Given the description of an element on the screen output the (x, y) to click on. 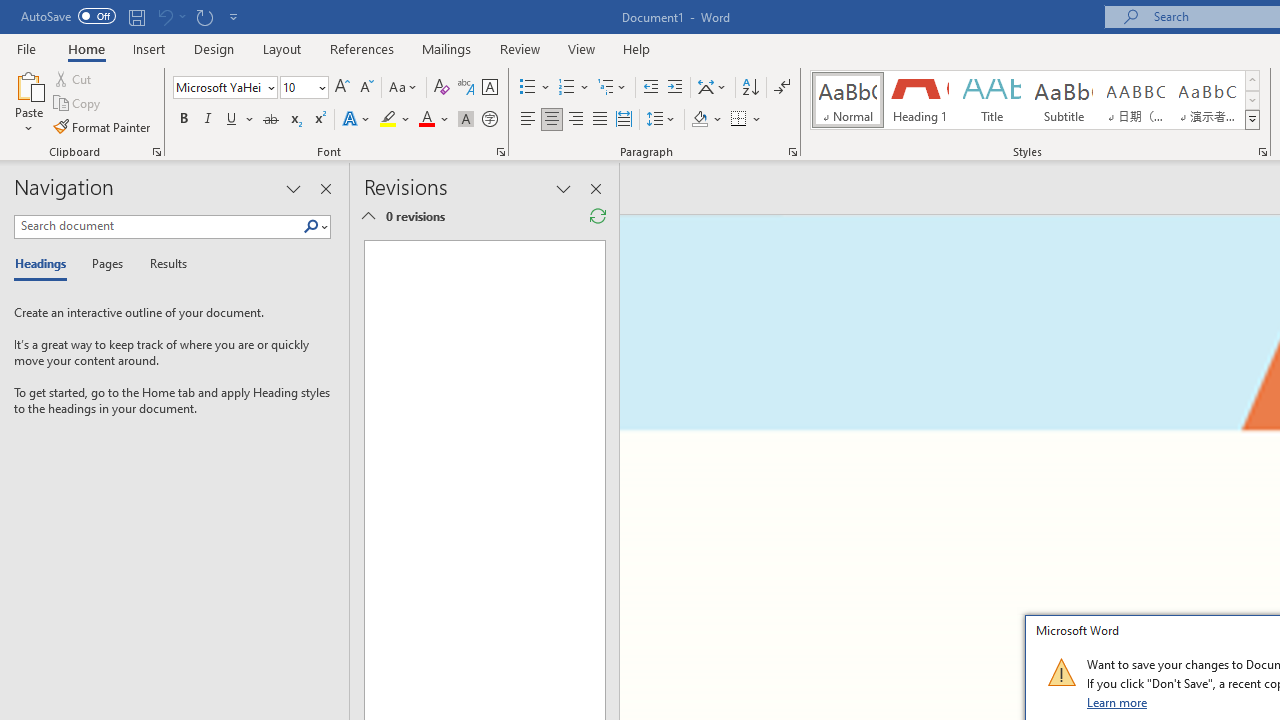
Row up (1252, 79)
Headings (45, 264)
Change Case (404, 87)
Can't Undo (164, 15)
Refresh Reviewing Pane (597, 215)
Can't Undo (170, 15)
AutomationID: QuickStylesGallery (1035, 99)
Learn more (1118, 702)
Font... (500, 151)
Shading RGB(0, 0, 0) (699, 119)
